Given the description of an element on the screen output the (x, y) to click on. 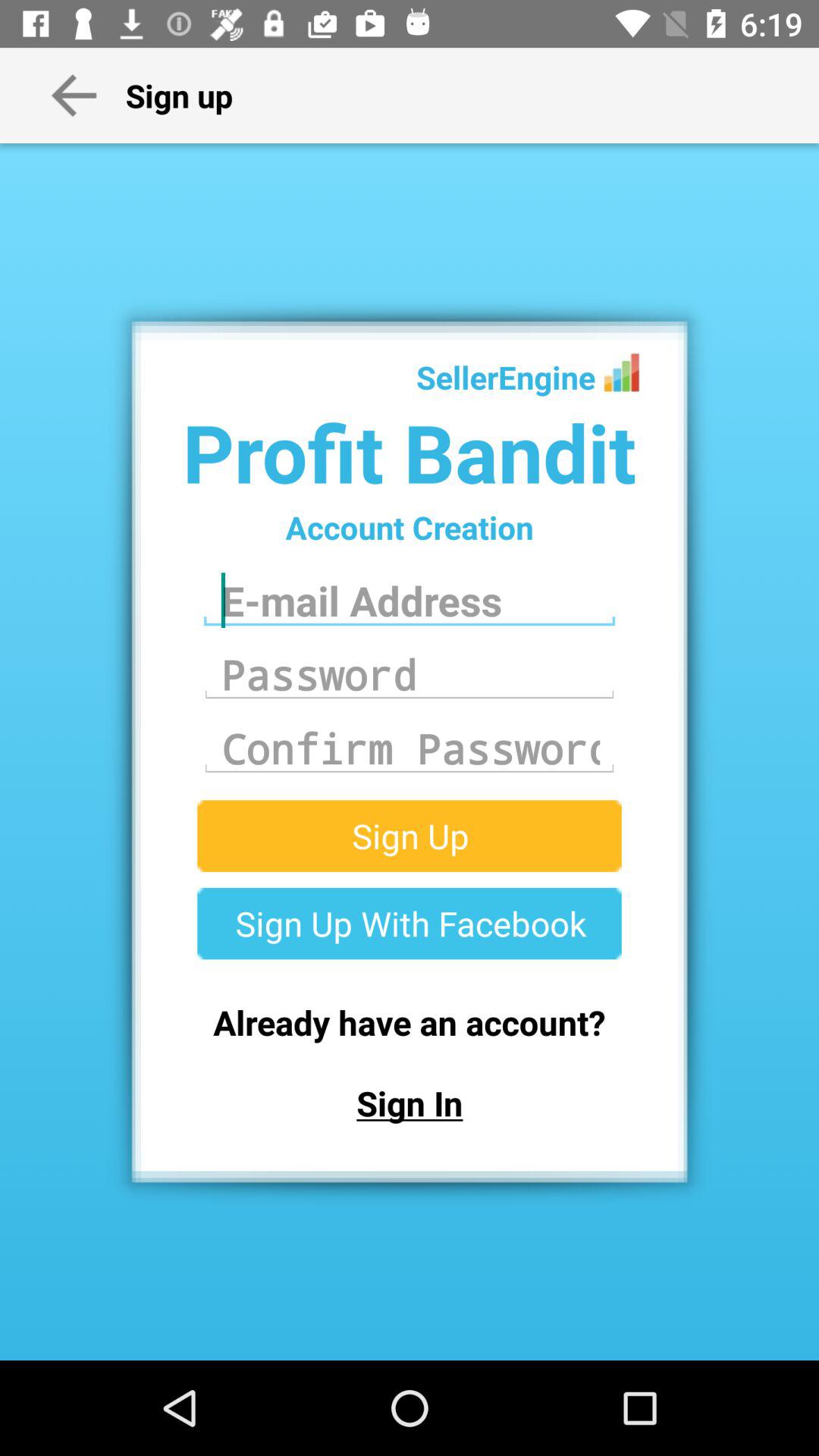
turn on item below already have an item (409, 1103)
